Given the description of an element on the screen output the (x, y) to click on. 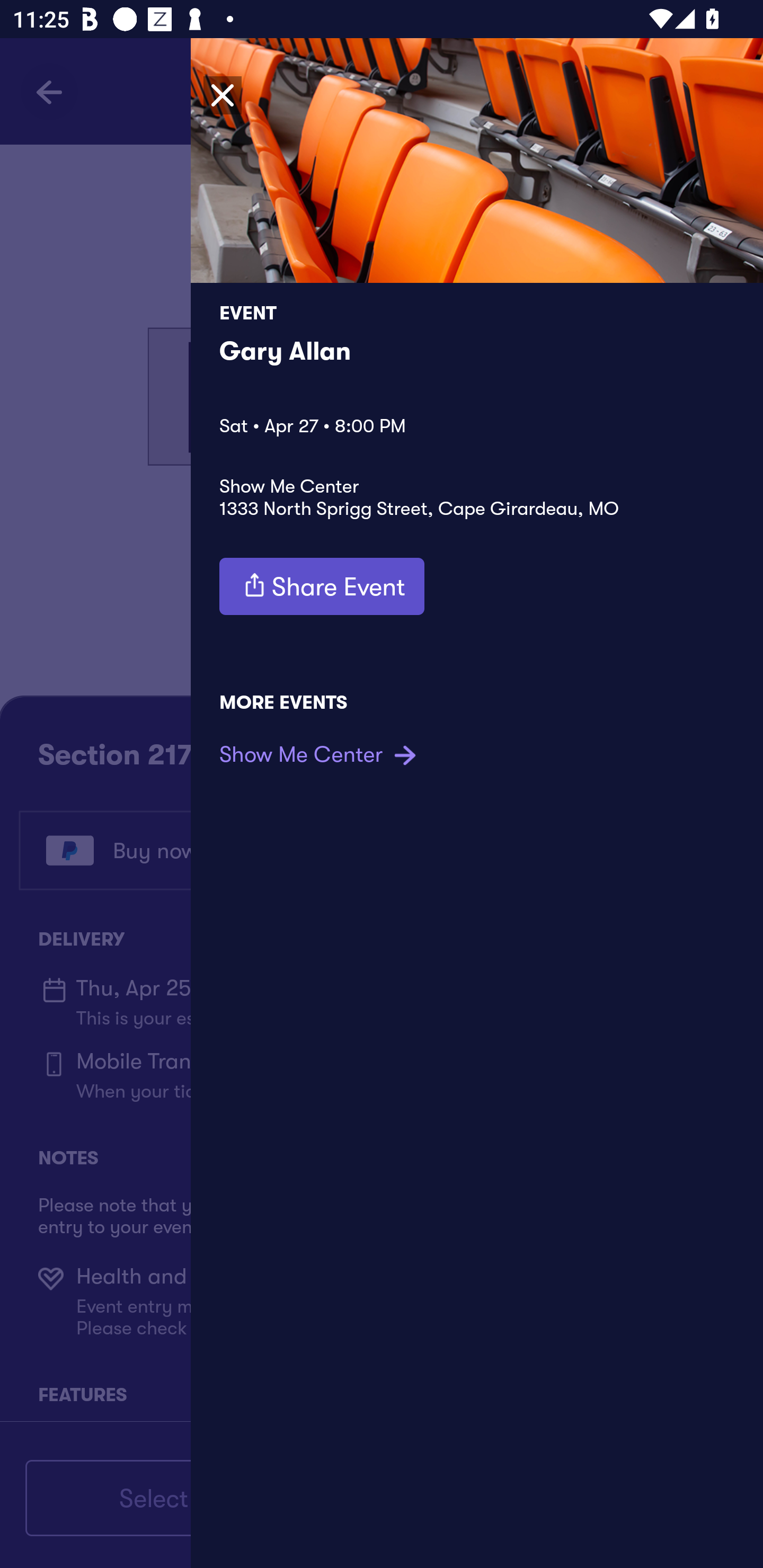
Share Event (321, 586)
Show Me Center (320, 753)
